Given the description of an element on the screen output the (x, y) to click on. 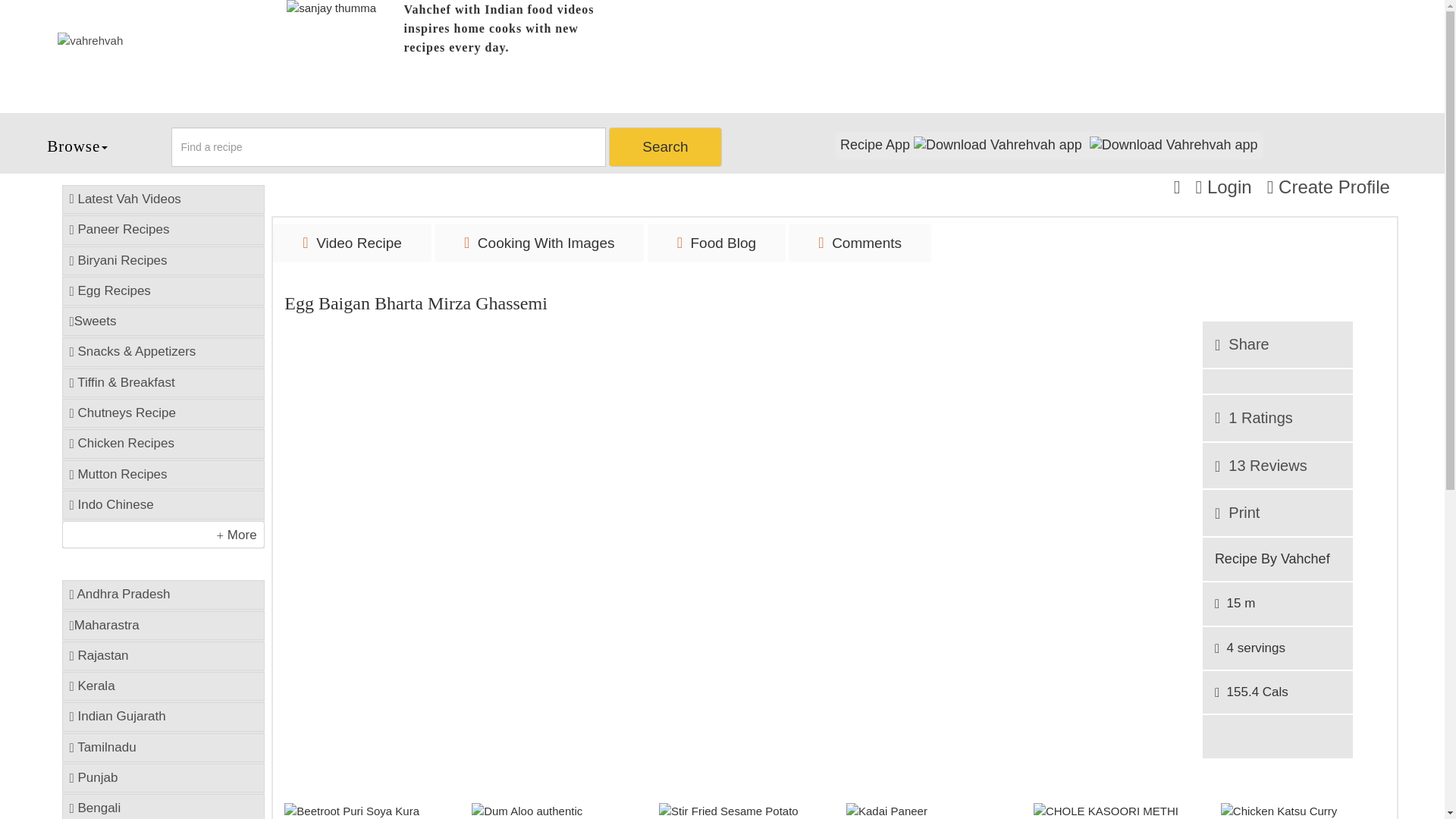
 Login (1222, 186)
vahrehvah (159, 40)
Recipe App    (1048, 144)
 Create Profile (1328, 186)
sanjay thumma (343, 56)
Search (664, 146)
